Given the description of an element on the screen output the (x, y) to click on. 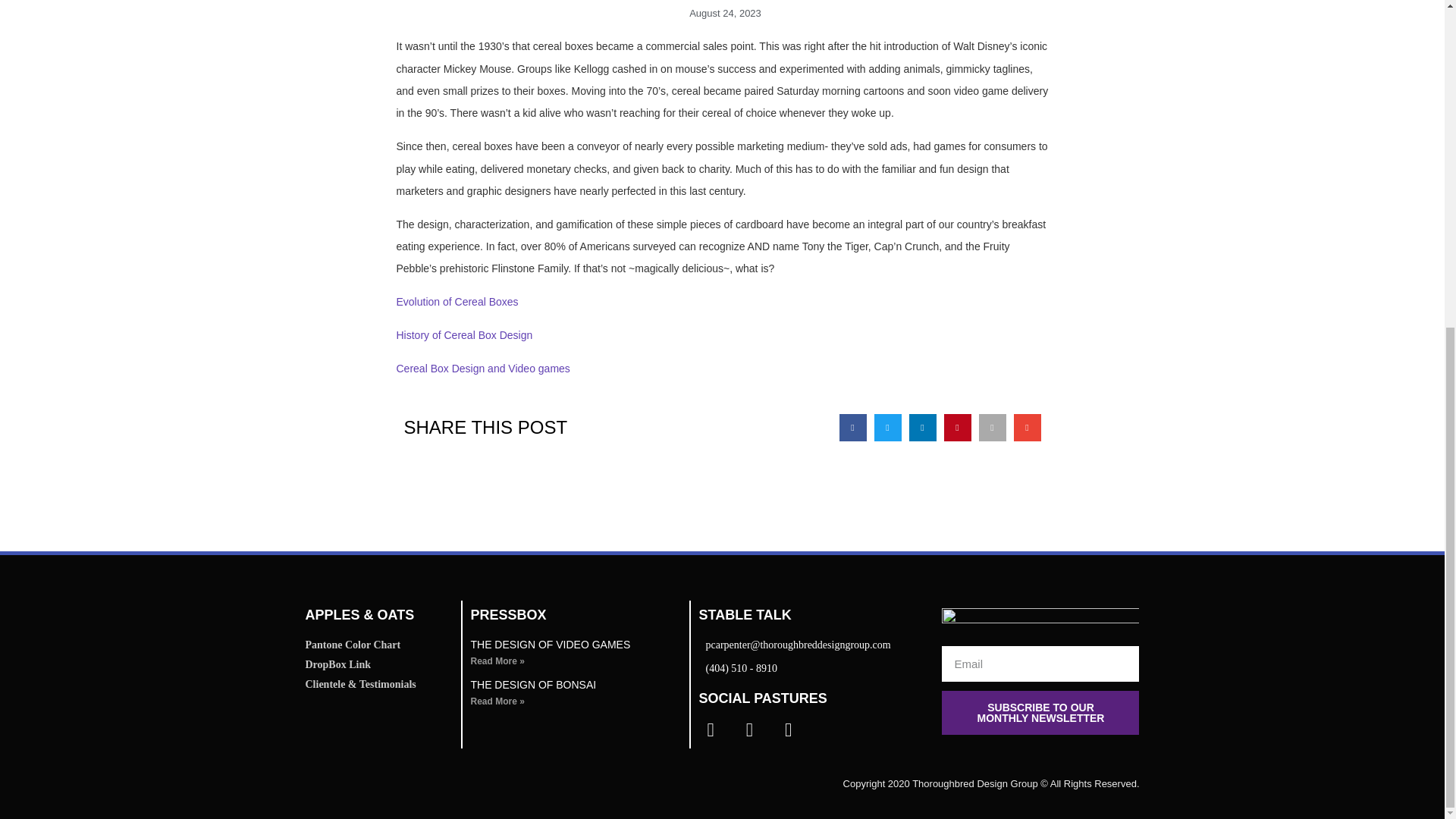
DropBox Link (378, 664)
Cereal Box Design (440, 368)
August 24, 2023 (721, 13)
SUBSCRIBE TO OUR MONTHLY NEWSLETTER (1040, 712)
THE DESIGN OF VIDEO GAMES (550, 644)
Evolution of Cereal Boxes (457, 301)
History of Cereal Box Design (464, 335)
THE DESIGN OF BONSAI (532, 684)
Pantone Color Chart (378, 644)
 and Video games (527, 368)
